Given the description of an element on the screen output the (x, y) to click on. 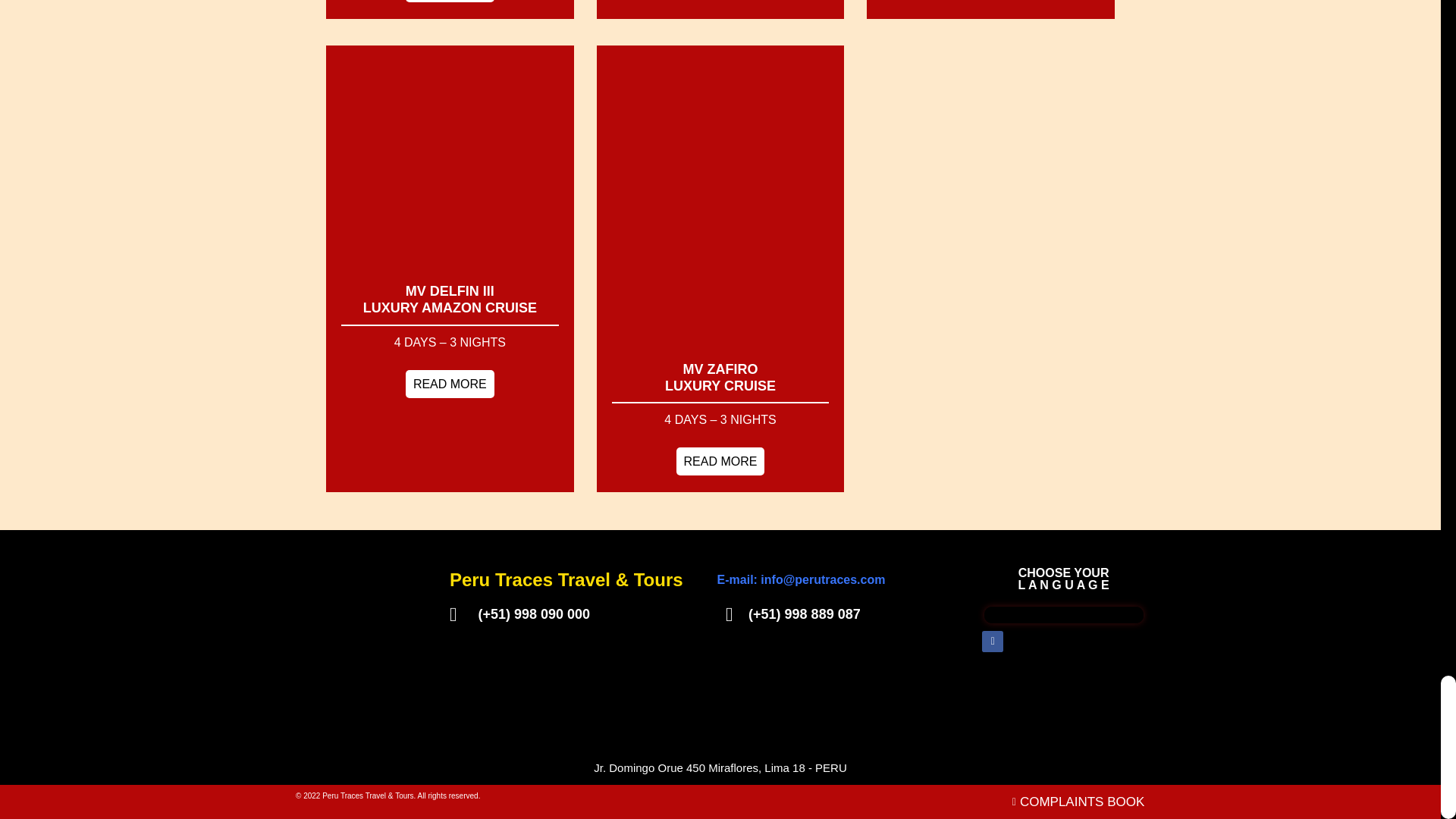
We accept credit cards (1087, 687)
